Given the description of an element on the screen output the (x, y) to click on. 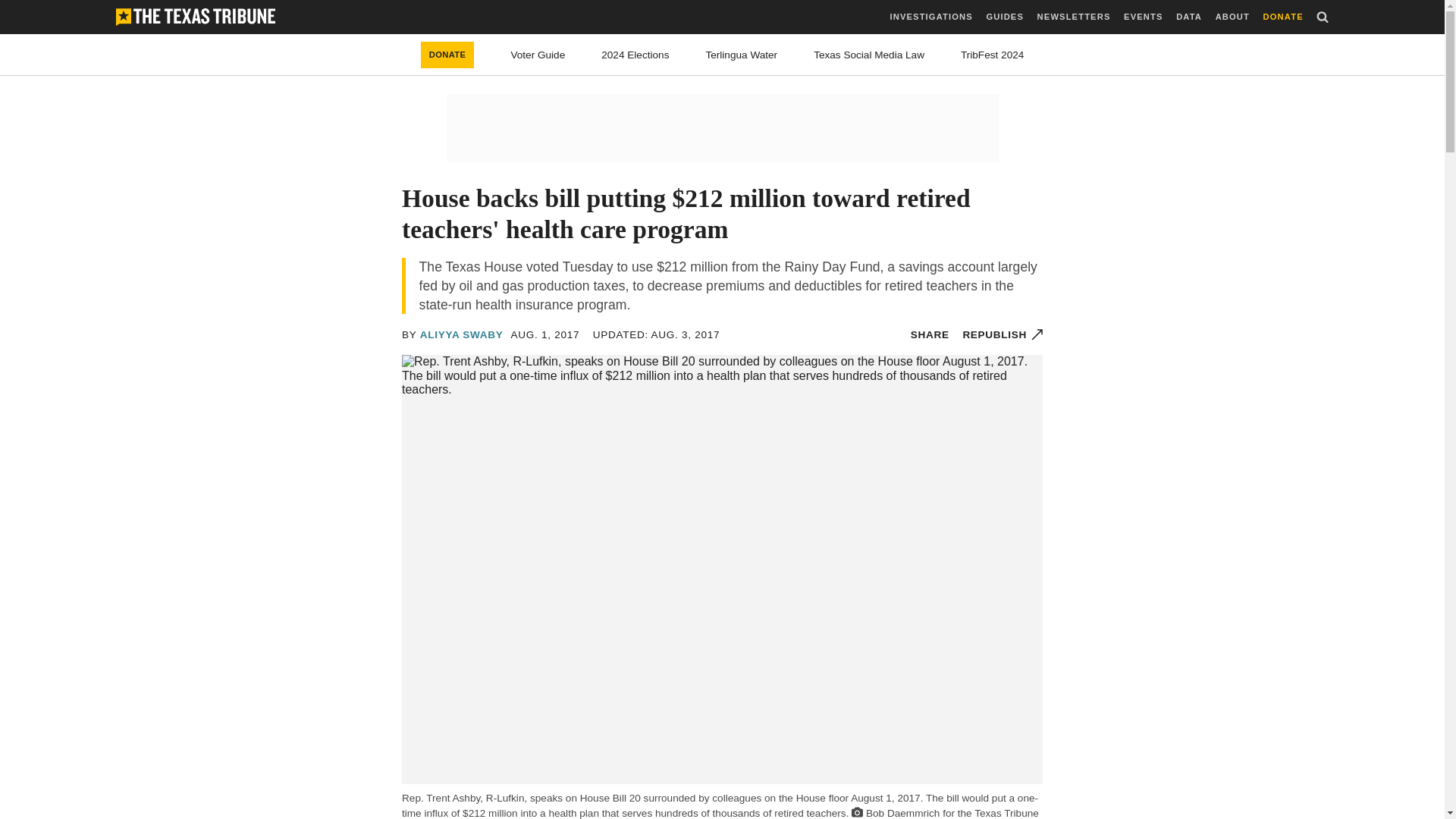
2024 Elections (634, 54)
2017-08-03 10:41 CDT (655, 334)
Terlingua Water (740, 54)
DONATE (447, 54)
EVENTS (1142, 17)
ALIYYA SWABY (461, 334)
TribFest 2024 (991, 54)
2017-08-01 11:53 CDT (545, 334)
GUIDES (1004, 17)
NEWSLETTERS (1073, 17)
